Given the description of an element on the screen output the (x, y) to click on. 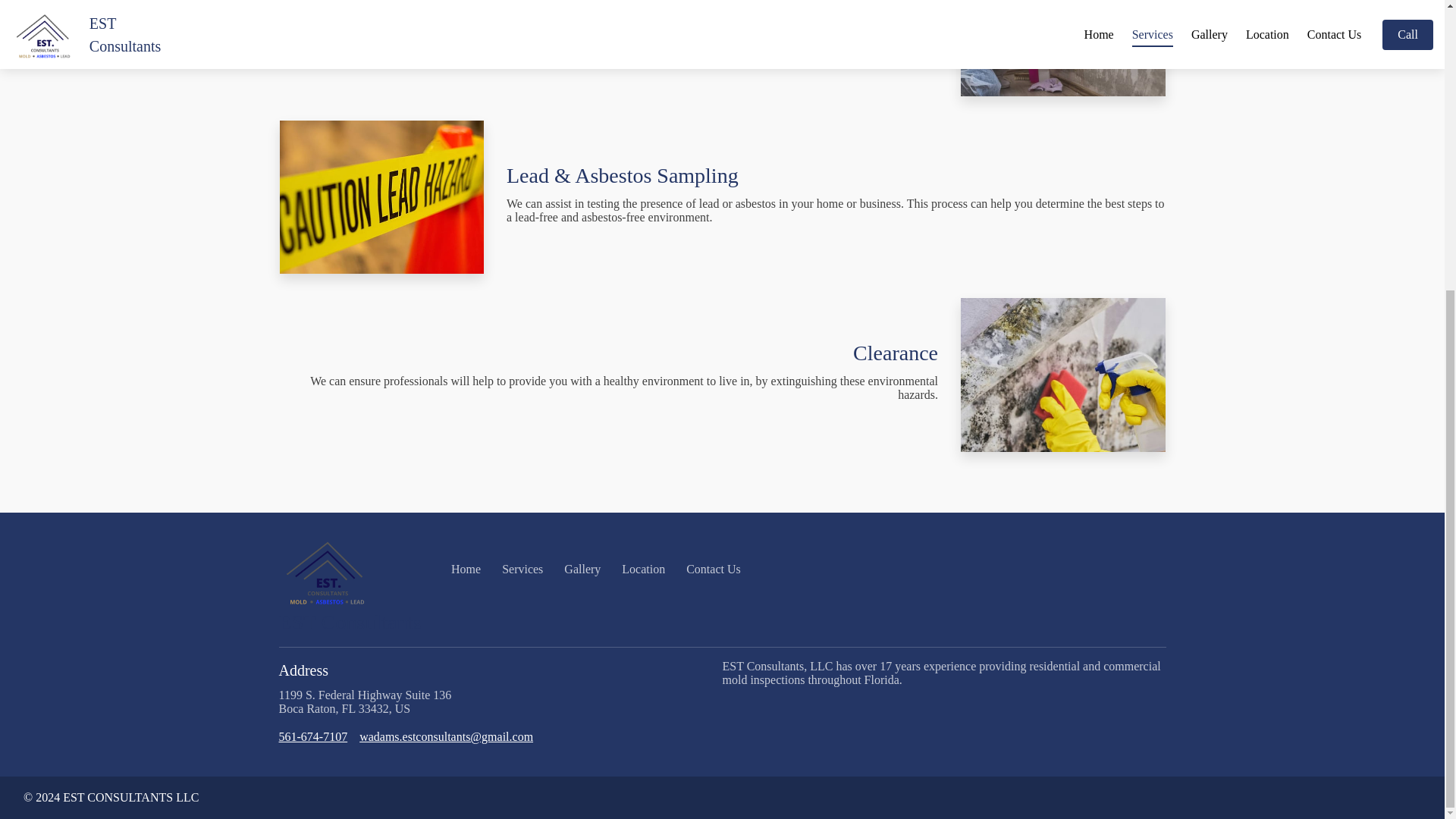
Services (522, 568)
Home (465, 568)
Location (643, 568)
Gallery (581, 568)
Contact Us (713, 568)
561-674-7107 (313, 737)
